Given the description of an element on the screen output the (x, y) to click on. 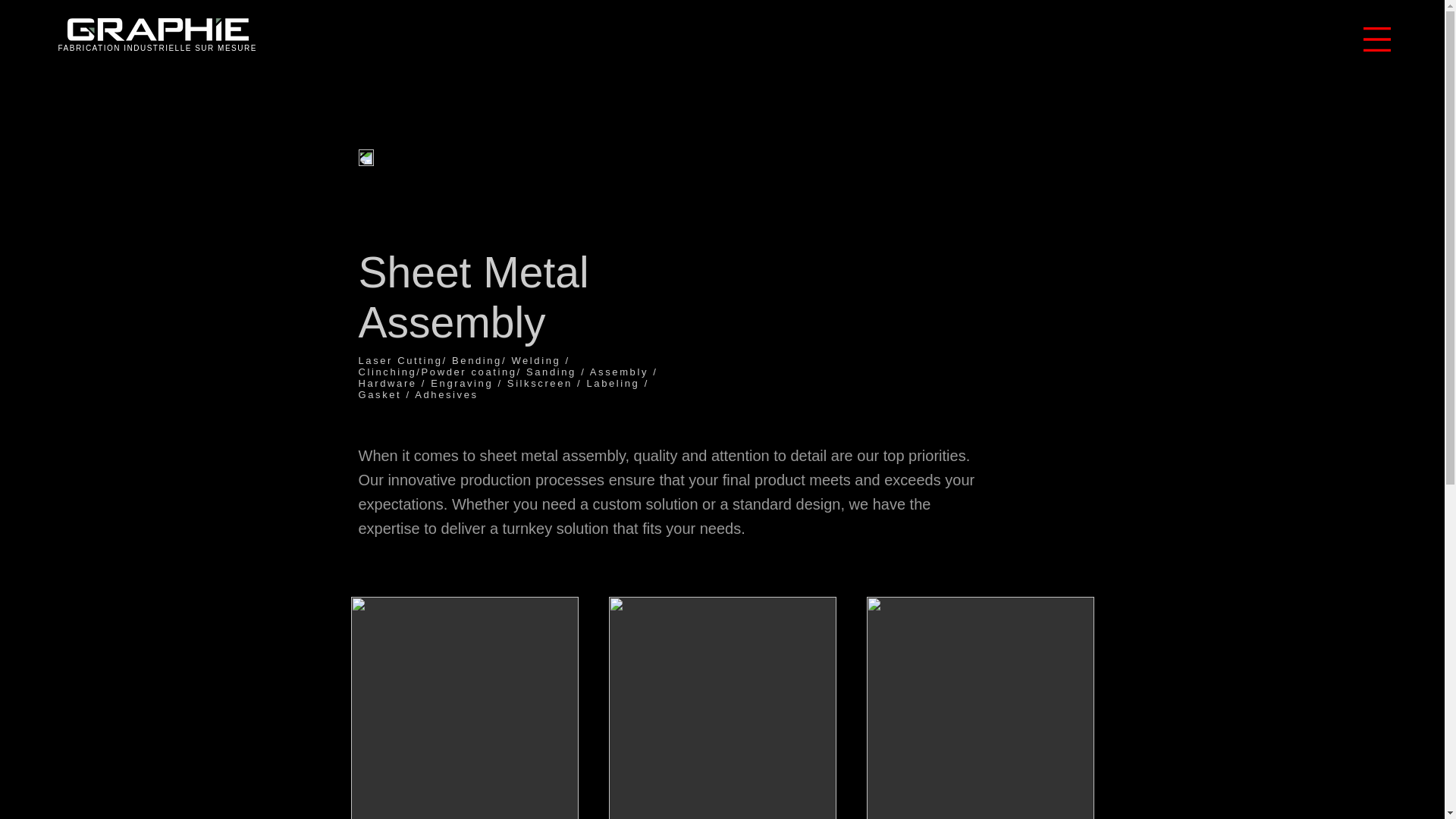
FABRICATION INDUSTRIELLE SUR MESURE (157, 48)
